Given the description of an element on the screen output the (x, y) to click on. 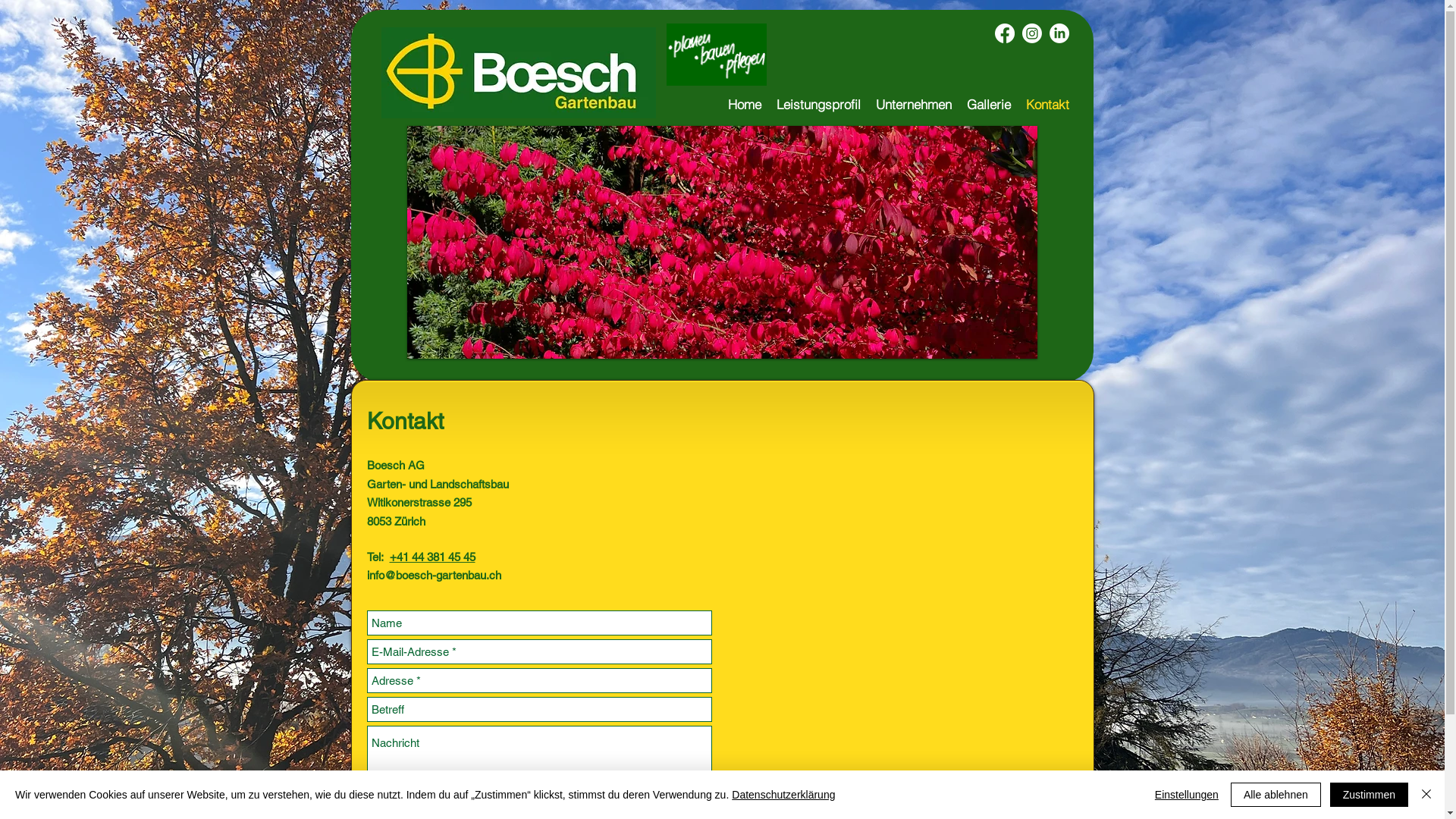
Alle ablehnen Element type: text (1275, 794)
Leistungsprofil Element type: text (818, 104)
Zustimmen Element type: text (1369, 794)
Google Maps Element type: hover (902, 698)
Unternehmen Element type: text (912, 104)
+41 44 381 45 45 Element type: text (432, 556)
Gallerie Element type: text (987, 104)
info@boesch-gartenbau.ch Element type: text (434, 574)
Kontakt Element type: text (1046, 104)
Home Element type: text (744, 104)
